Given the description of an element on the screen output the (x, y) to click on. 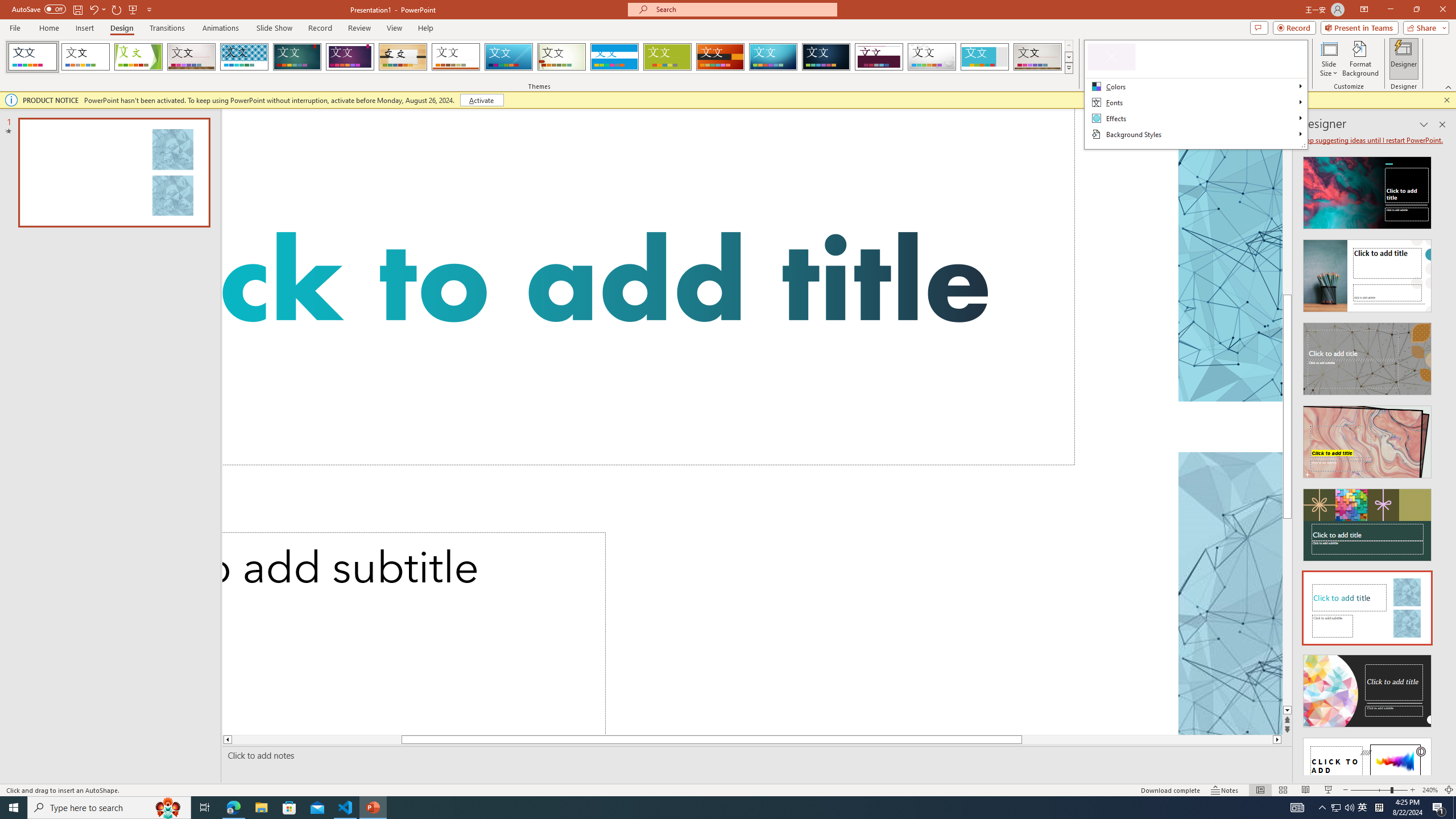
Close this message (1446, 99)
Basis (667, 56)
Banded (614, 56)
Facet (138, 56)
Activate (481, 100)
